Given the description of an element on the screen output the (x, y) to click on. 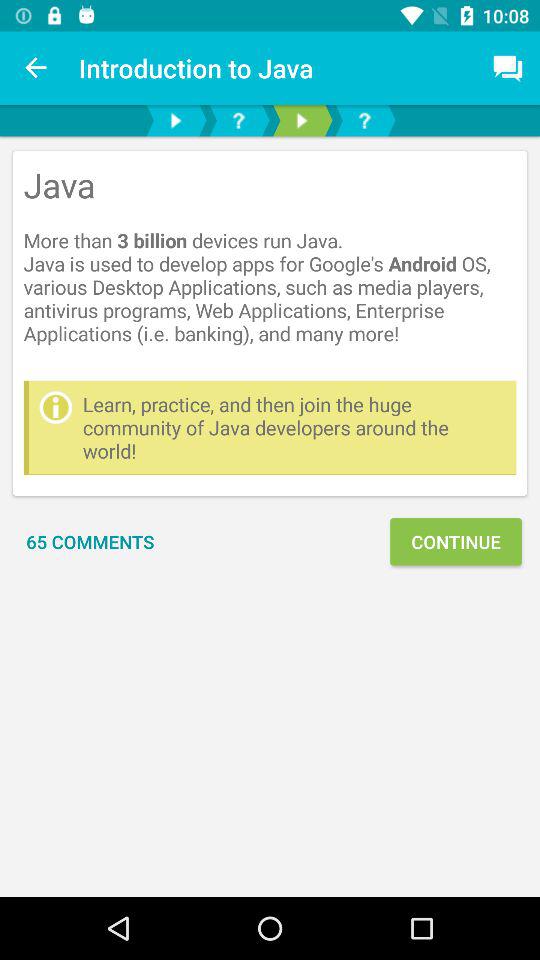
launch item to the right of 65 comments (455, 541)
